Given the description of an element on the screen output the (x, y) to click on. 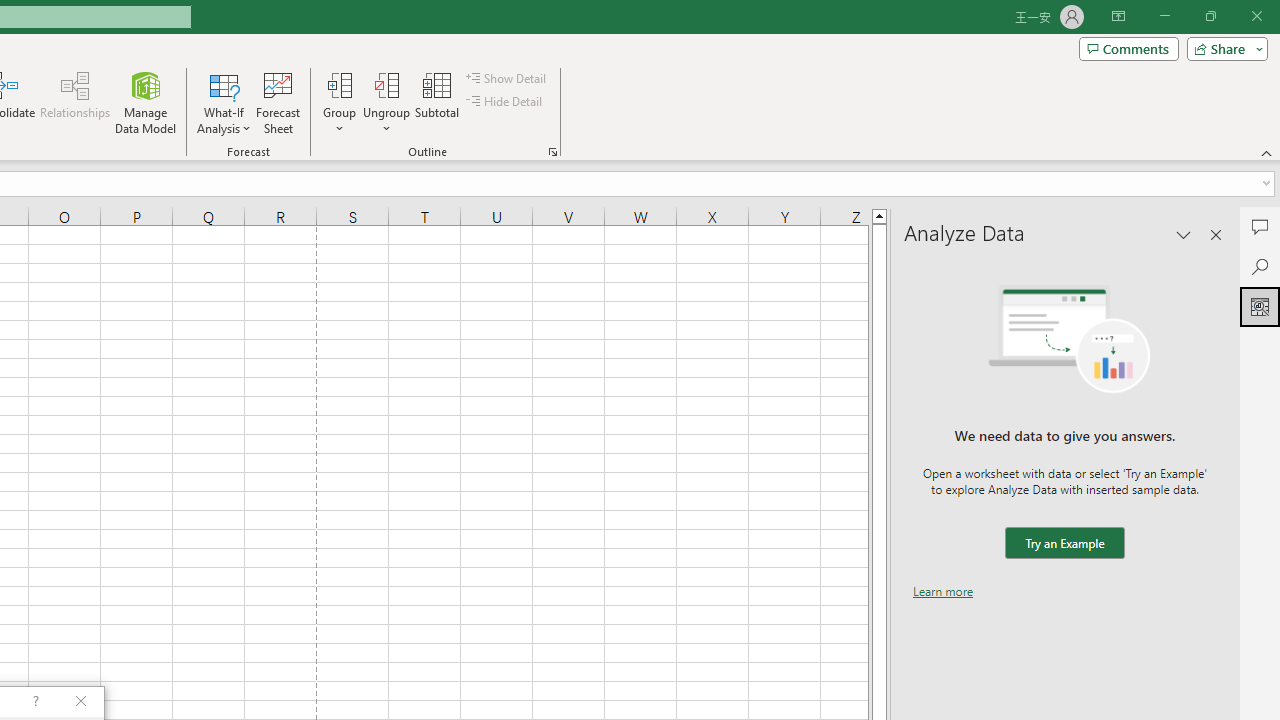
Restore Down (1210, 16)
Task Pane Options (1183, 234)
Share (1223, 48)
Search (1260, 266)
Relationships (75, 102)
What-If Analysis (223, 102)
Close pane (1215, 234)
Learn more (943, 591)
Group... (339, 84)
Ribbon Display Options (1118, 16)
Ungroup... (386, 102)
Collapse the Ribbon (1267, 152)
Analyze Data (1260, 306)
